Given the description of an element on the screen output the (x, y) to click on. 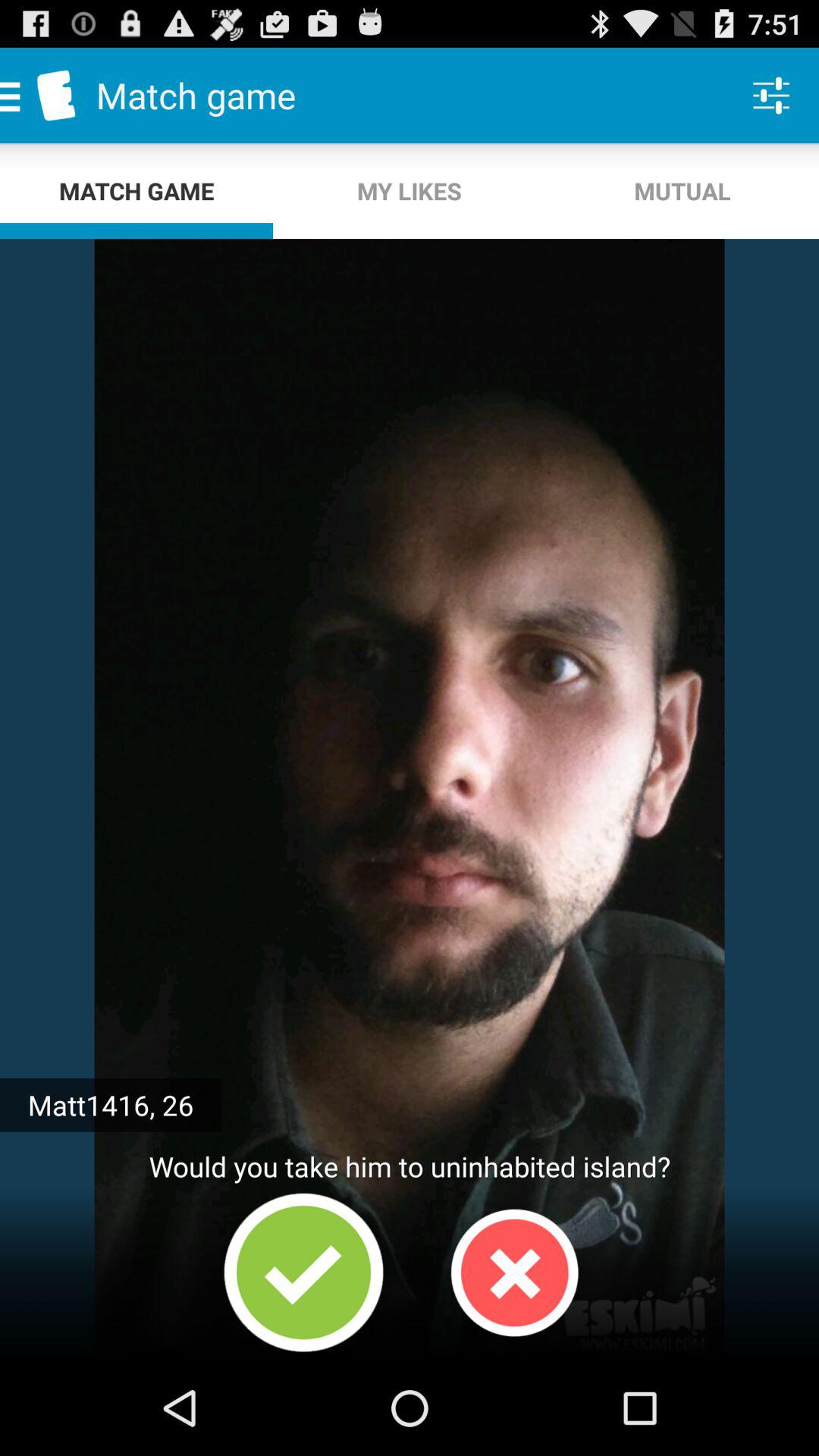
reject him (514, 1272)
